Given the description of an element on the screen output the (x, y) to click on. 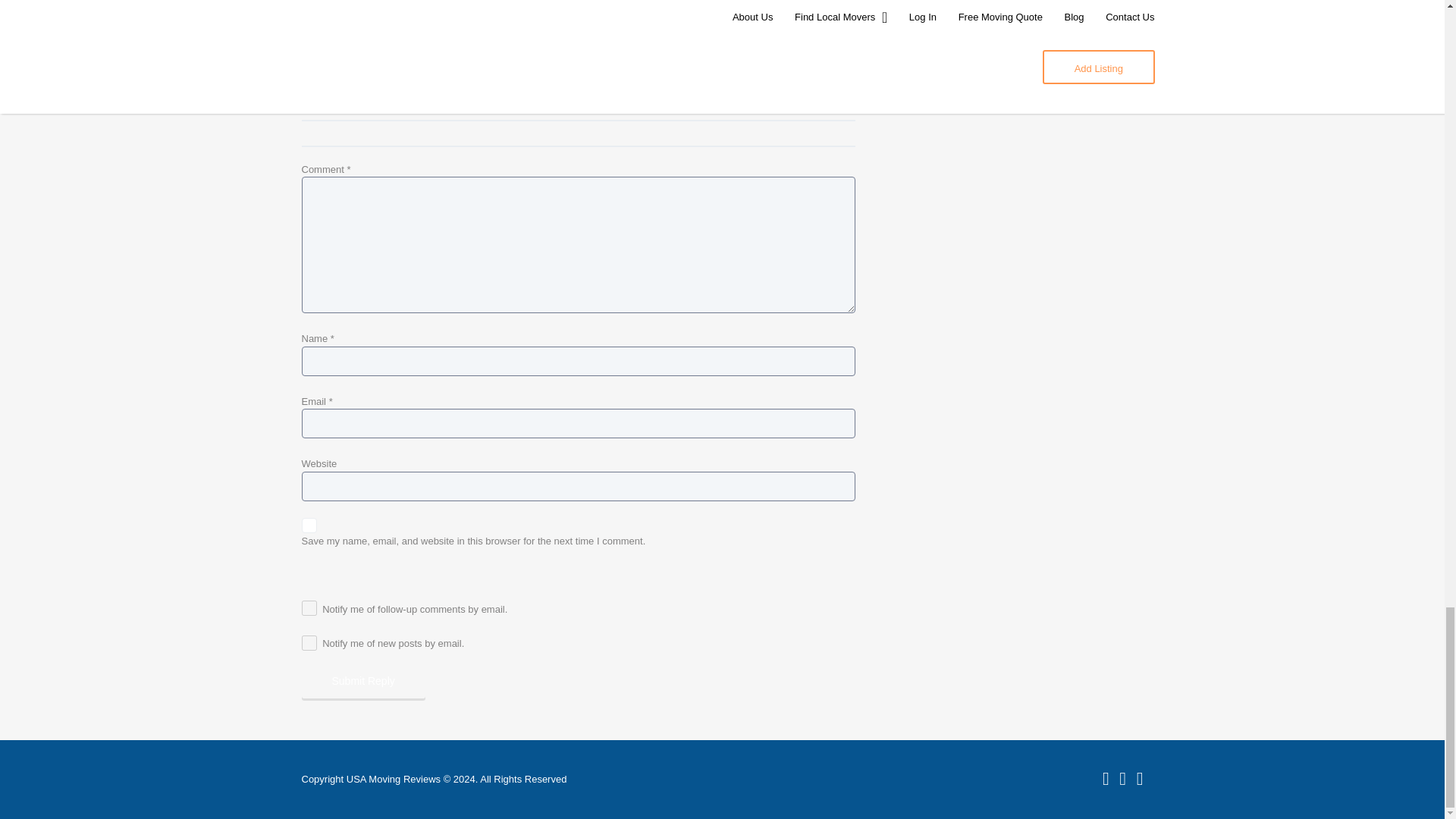
yes (309, 525)
Submit Reply (363, 680)
subscribe (309, 607)
subscribe (309, 642)
